Given the description of an element on the screen output the (x, y) to click on. 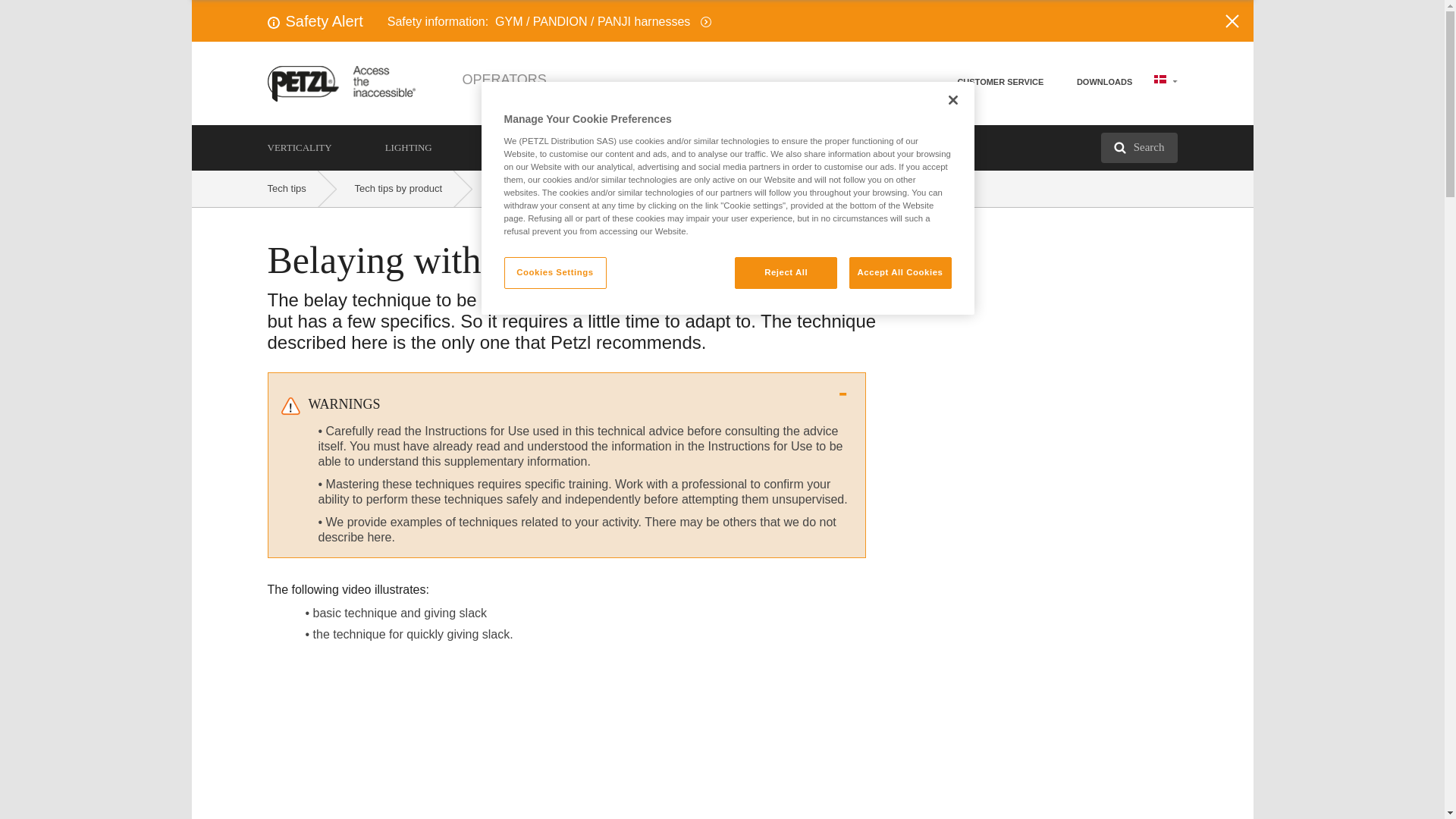
CUSTOMER SERVICE (999, 81)
OPERATORS (505, 79)
DOWNLOADS (1104, 81)
